Given the description of an element on the screen output the (x, y) to click on. 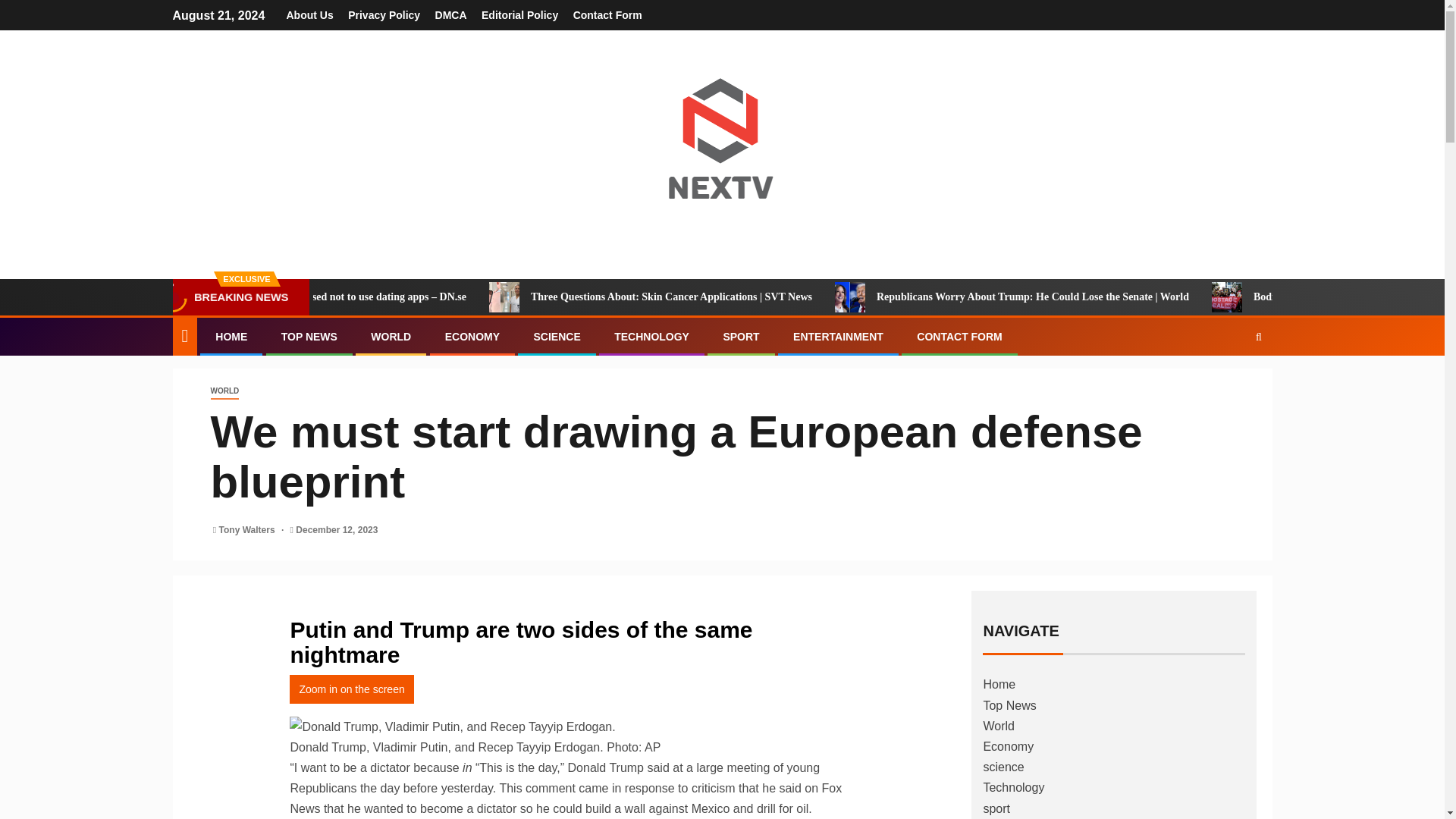
TOP NEWS (309, 336)
SCIENCE (555, 336)
WORLD (225, 391)
WORLD (390, 336)
DMCA (451, 15)
About Us (309, 15)
TECHNOLOGY (651, 336)
HOME (231, 336)
Tony Walters (248, 529)
Privacy Policy (383, 15)
